Given the description of an element on the screen output the (x, y) to click on. 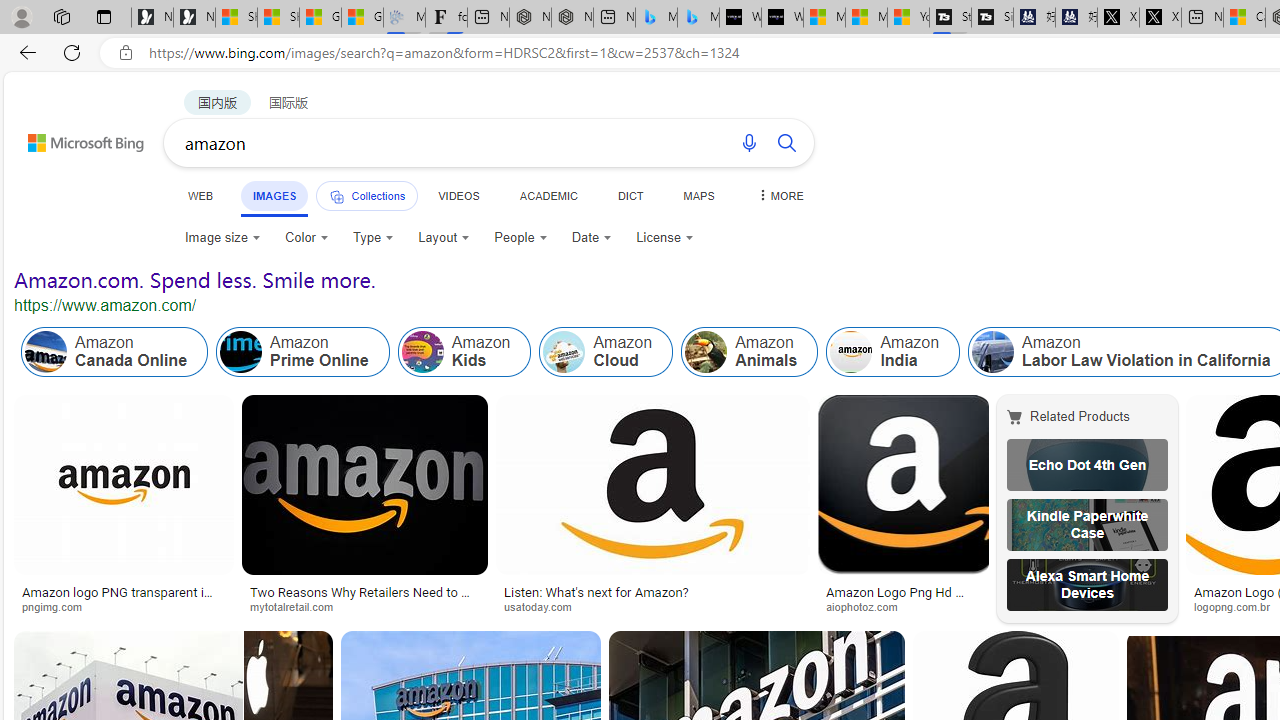
mytotalretail.com (298, 605)
Date (591, 237)
Image size (222, 237)
Amazon Cloud (606, 351)
Type (373, 237)
usatoday.com (653, 606)
Two Reasons Why Retailers Need to Leverage Amazon (364, 598)
Dropdown Menu (779, 195)
mytotalretail.com (364, 606)
Amazon Prime Online (241, 351)
Kindle Paperwhite Case (1087, 524)
